Given the description of an element on the screen output the (x, y) to click on. 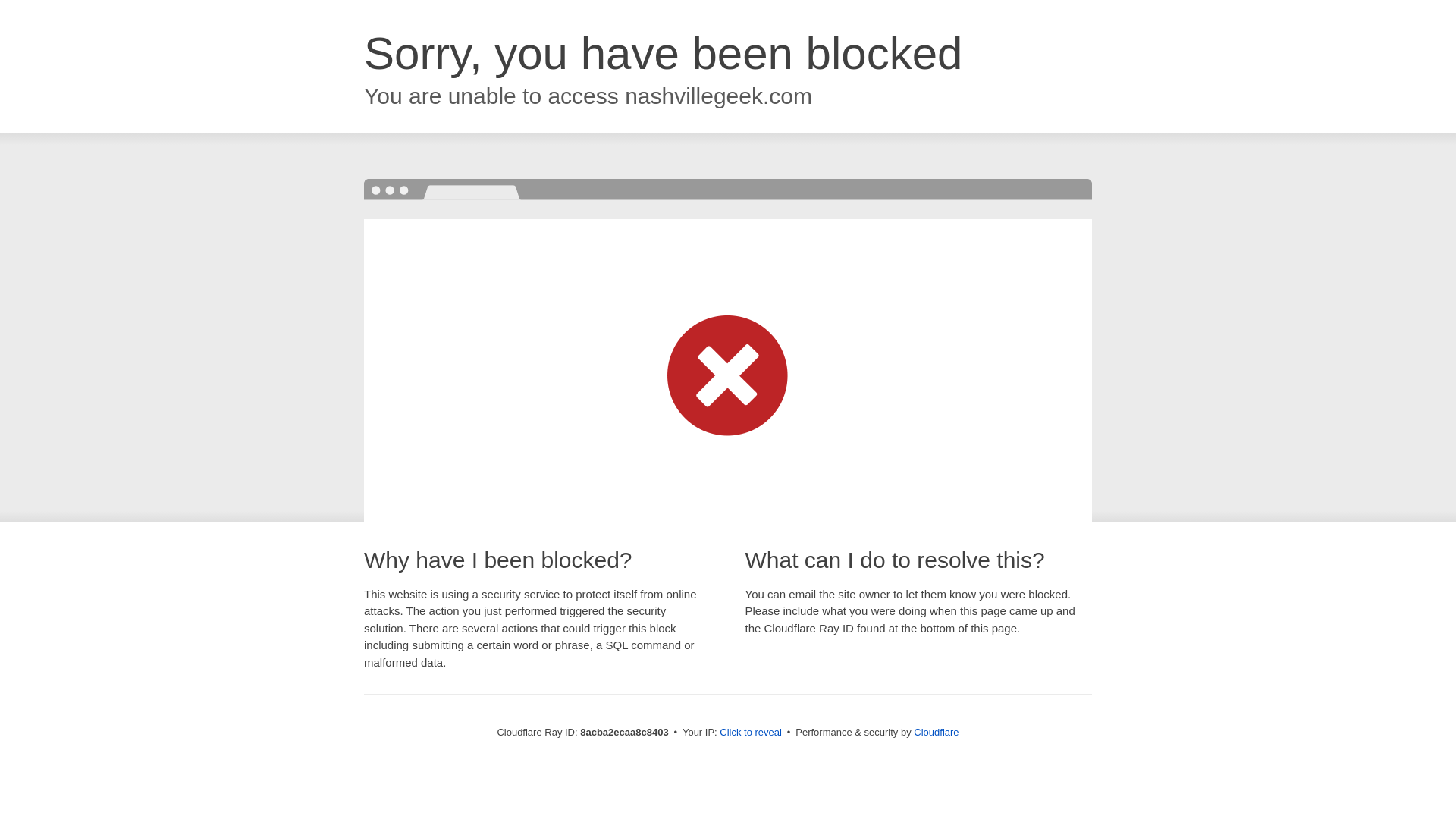
Cloudflare (936, 731)
Click to reveal (750, 732)
